Given the description of an element on the screen output the (x, y) to click on. 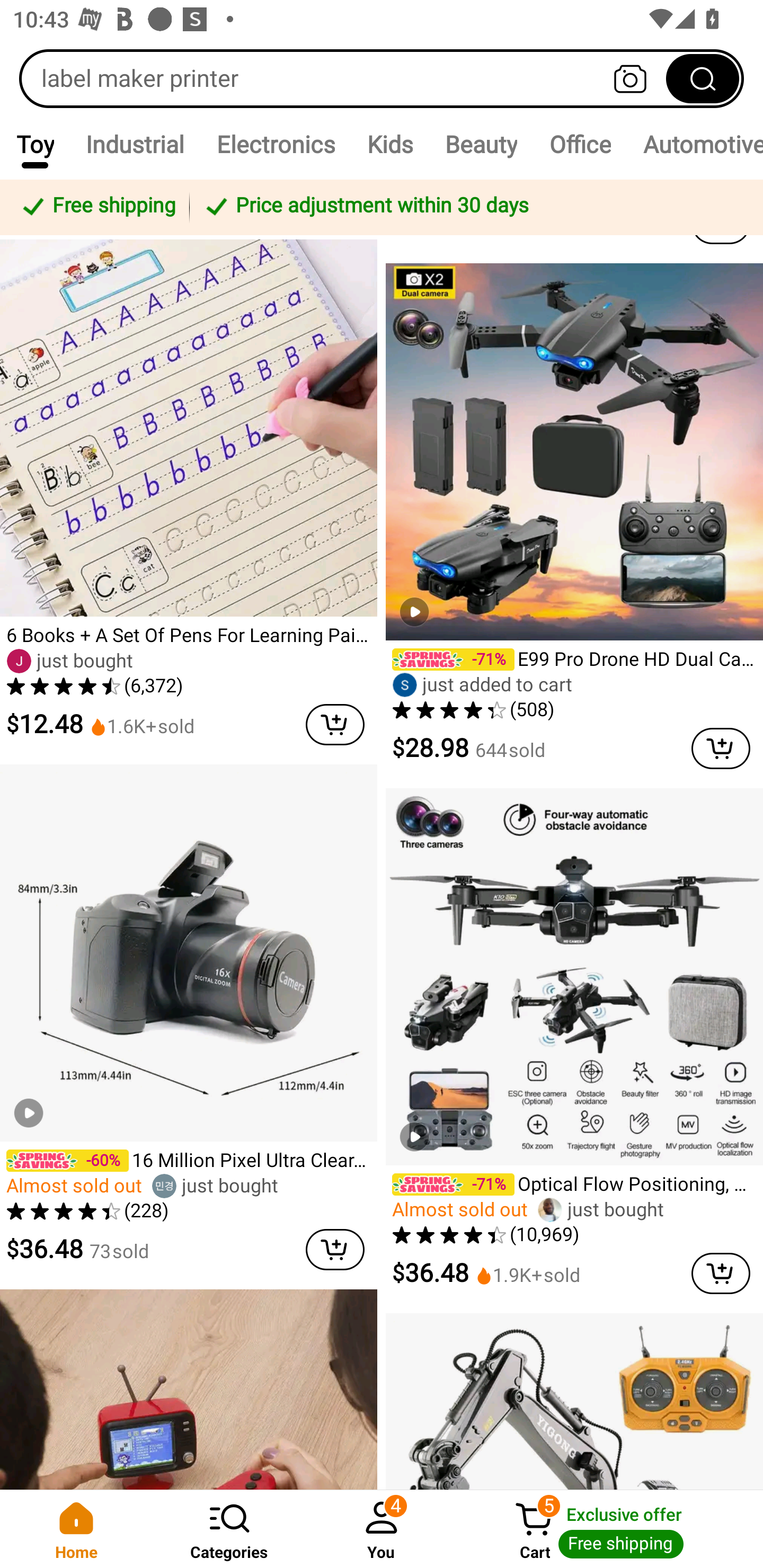
label maker printer (381, 78)
Toy (35, 144)
Industrial (134, 144)
Electronics (274, 144)
Kids (389, 144)
Beauty (480, 144)
Office (580, 144)
Automotive (695, 144)
Free shipping (97, 206)
Price adjustment within 30 days (472, 206)
cart delete (334, 724)
cart delete (720, 748)
cart delete (334, 1249)
cart delete (720, 1272)
Home (76, 1528)
Categories (228, 1528)
You 4 You (381, 1528)
Cart 5 Cart Exclusive offer (610, 1528)
